Given the description of an element on the screen output the (x, y) to click on. 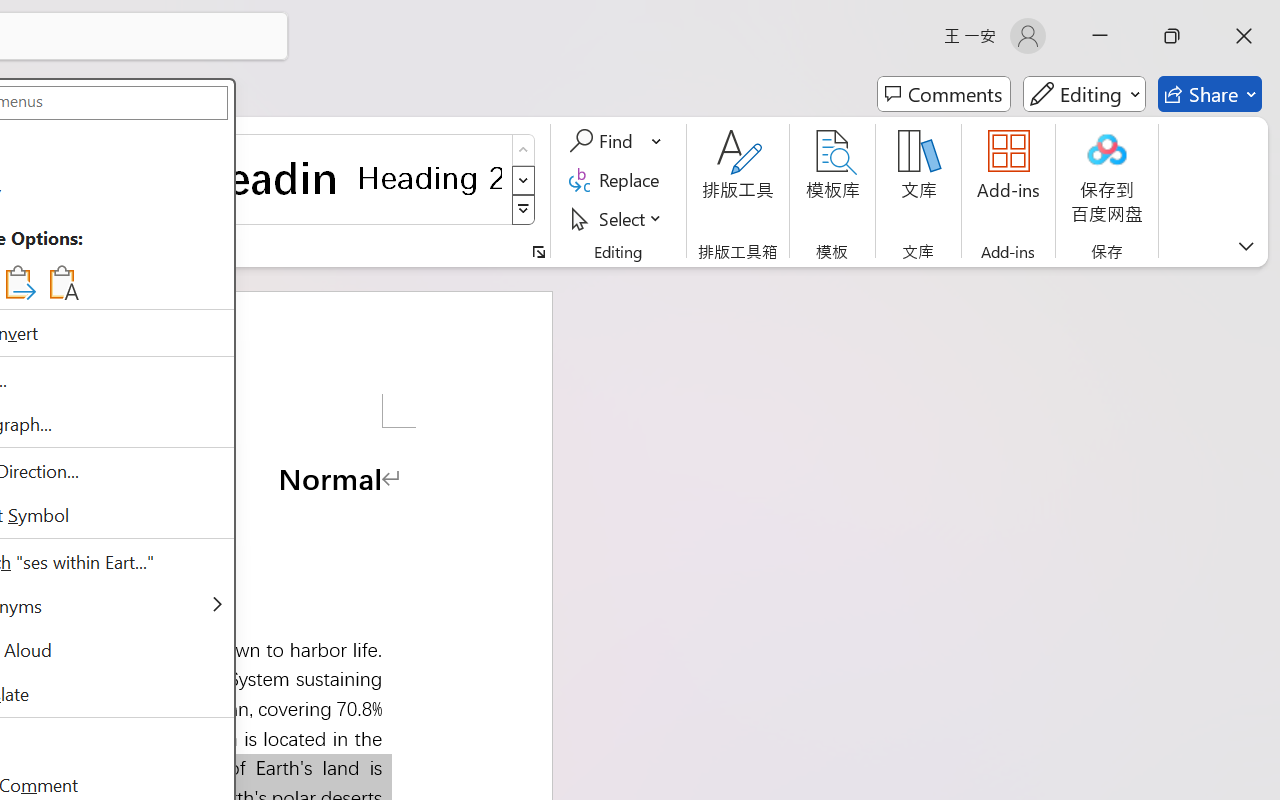
Keep Text Only (61, 282)
Replace... (617, 179)
Select (618, 218)
Styles... (538, 252)
Row up (523, 150)
